Given the description of an element on the screen output the (x, y) to click on. 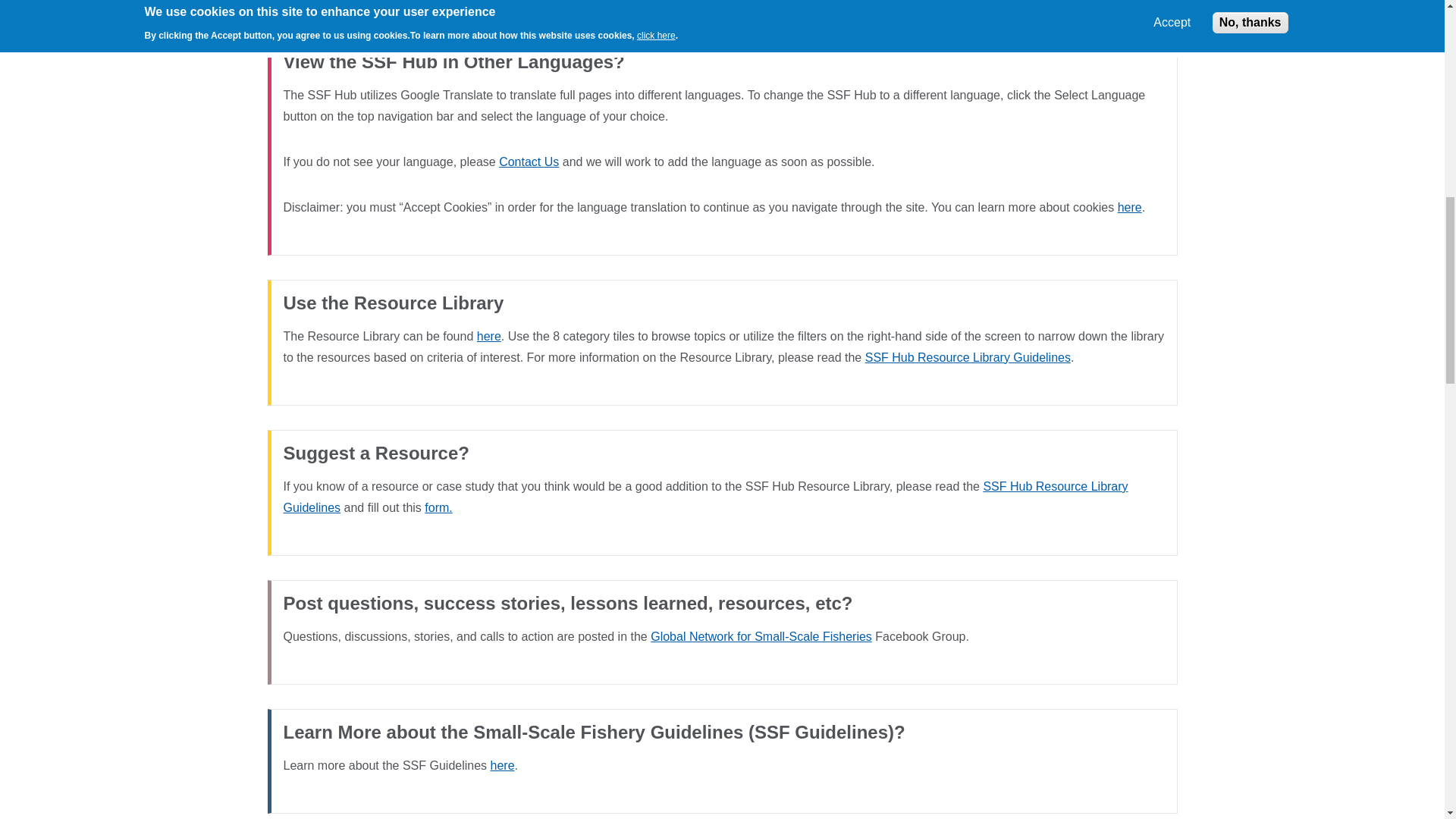
Contact (438, 507)
Cookie Notice (1129, 206)
Resource Library (488, 336)
Small-scale Fisheries Guidelines (502, 765)
SSF Hub Resource Library Guidelines (705, 496)
SSF Hub Resource Library Guidelines (967, 357)
Contact (529, 161)
